Given the description of an element on the screen output the (x, y) to click on. 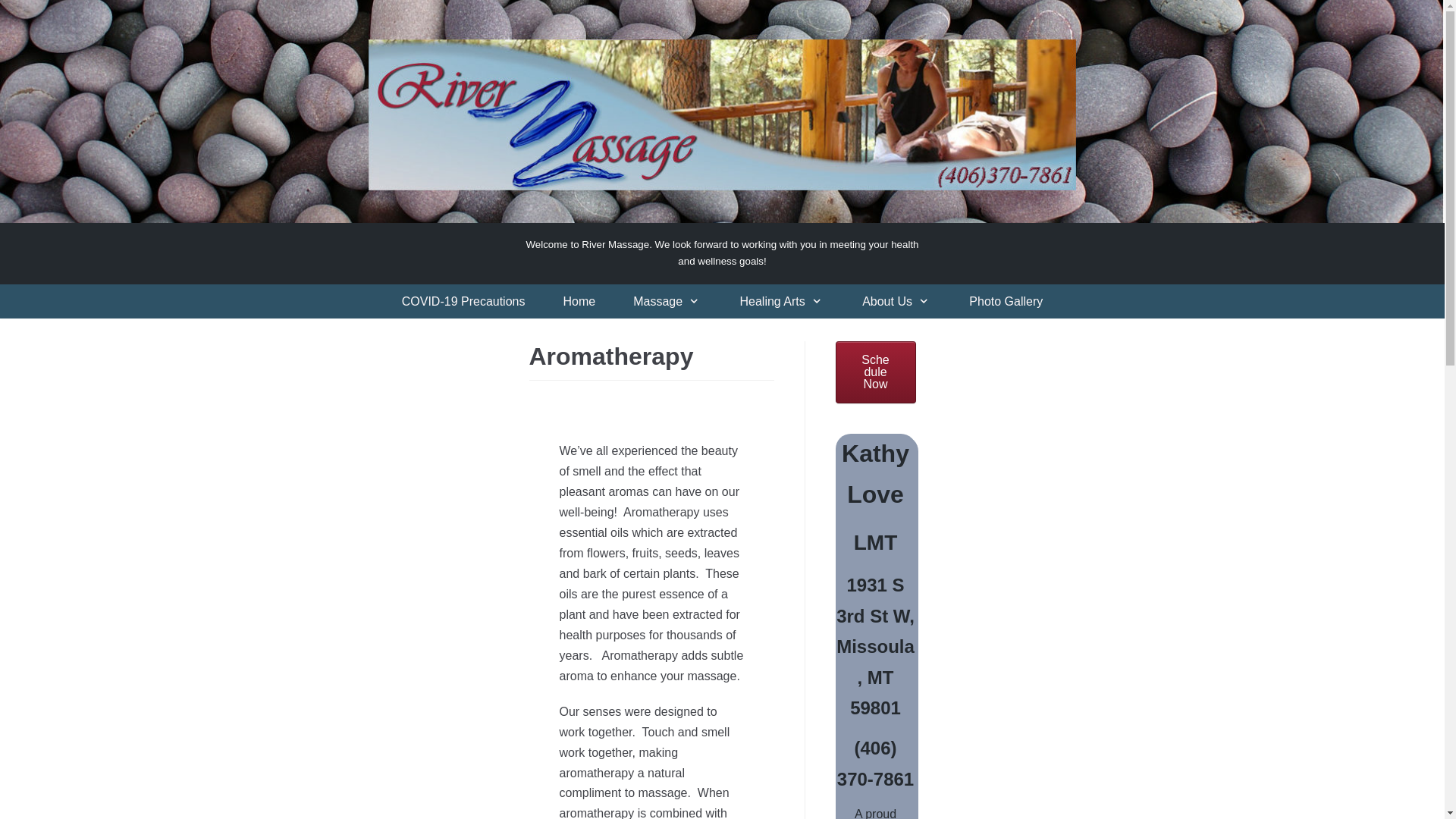
Home (578, 301)
Massage (667, 301)
Healing Arts (781, 301)
COVID-19 Precautions (463, 301)
Schedule Now (875, 372)
Skip to content (15, 7)
Photo Gallery (1005, 301)
About Us (896, 301)
River Massage (721, 253)
